Given the description of an element on the screen output the (x, y) to click on. 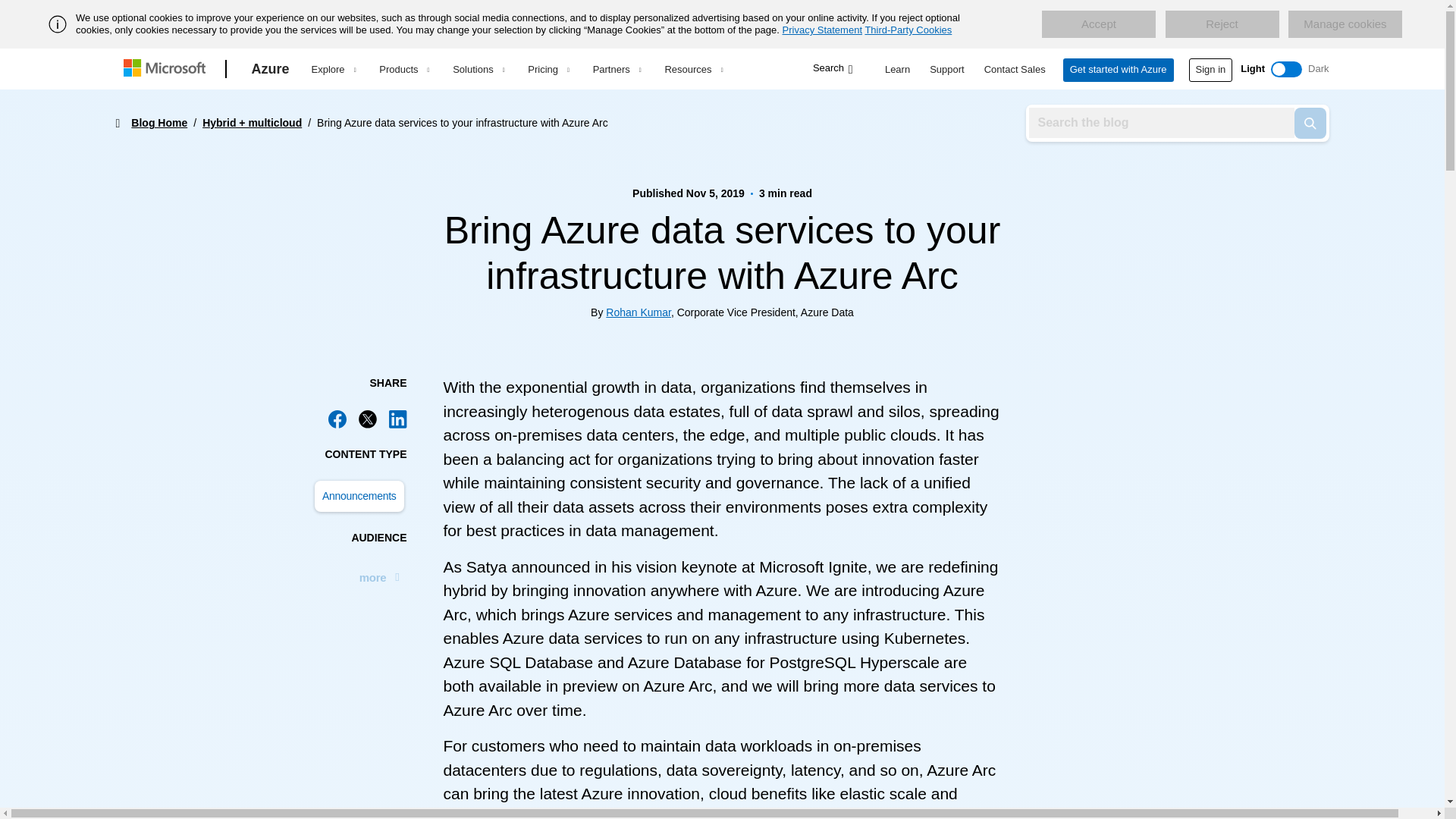
Microsoft (167, 69)
Privacy Statement (823, 30)
Reject (1221, 23)
Azure (270, 69)
Third-Party Cookies (908, 30)
Accept (1099, 23)
Products (403, 69)
Manage cookies (1345, 23)
Explore (333, 69)
